Given the description of an element on the screen output the (x, y) to click on. 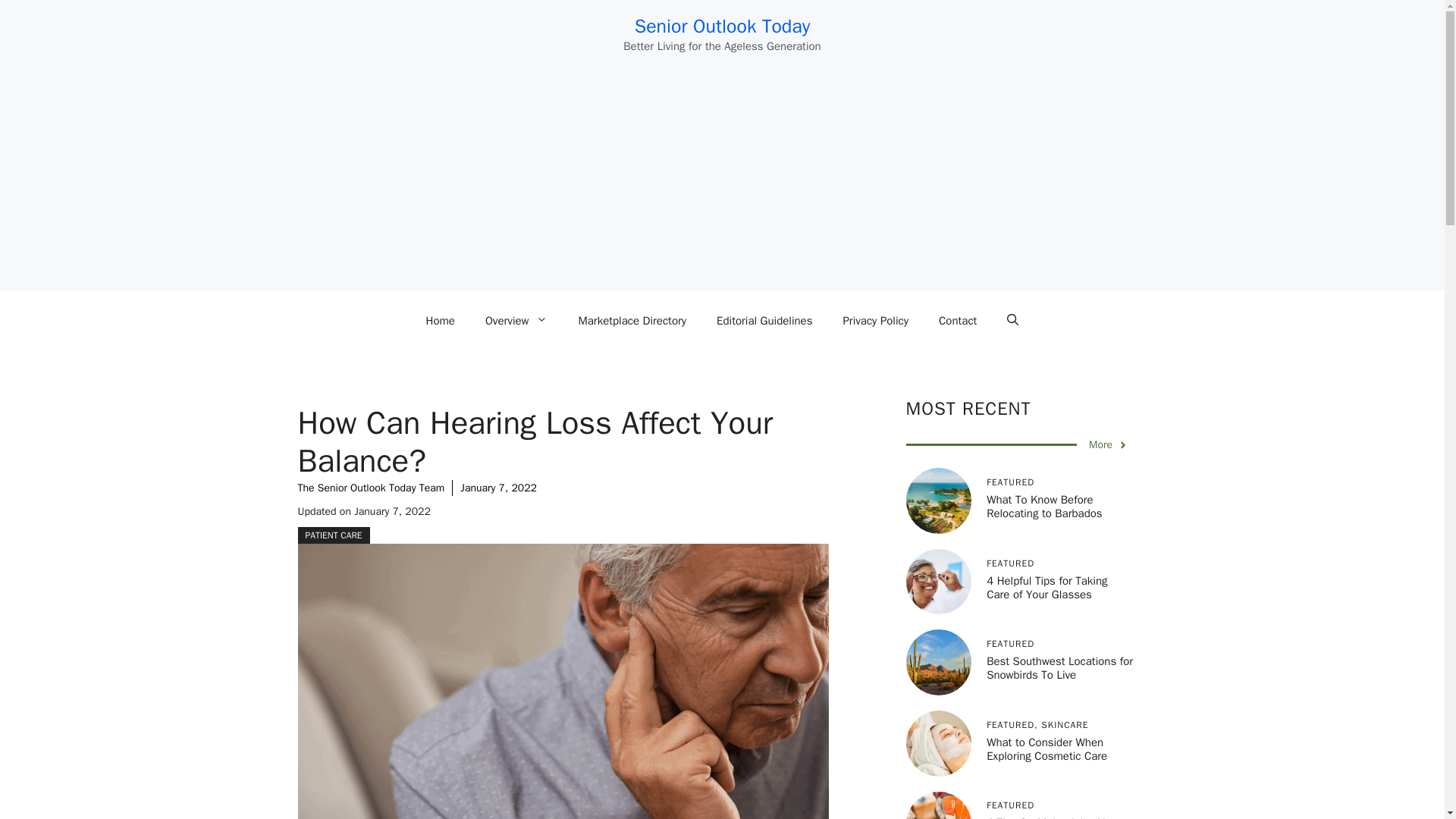
Overview (516, 320)
Editorial Guidelines (764, 320)
What To Know Before Relocating to Barbados (1044, 506)
Marketplace Directory (631, 320)
Home (440, 320)
Contact (957, 320)
PATIENT CARE (333, 535)
4 Helpful Tips for Taking Care of Your Glasses (1046, 587)
The Senior Outlook Today Team (370, 487)
More (1108, 444)
